Given the description of an element on the screen output the (x, y) to click on. 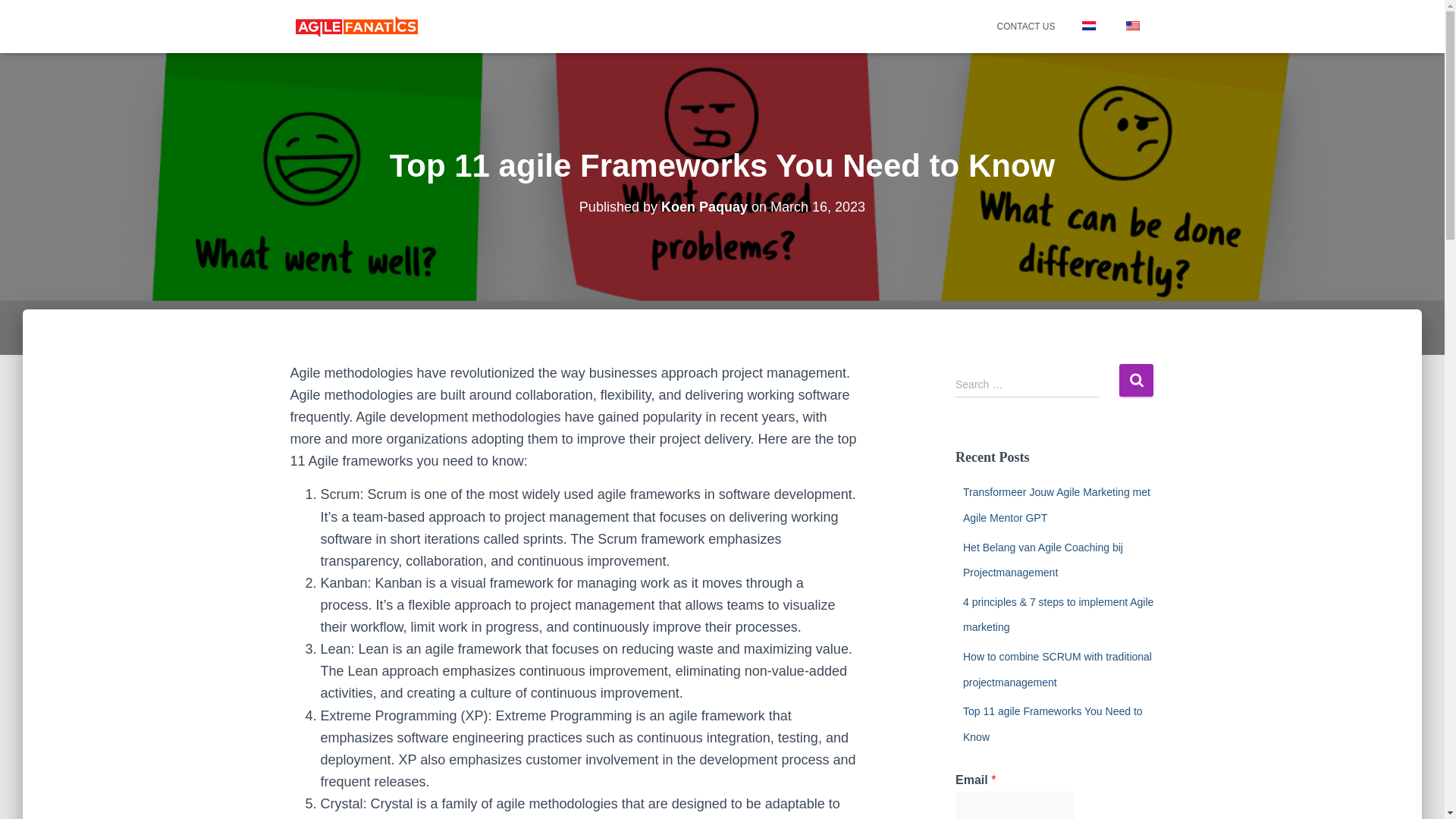
CONTACT US (1026, 26)
Contact us (1026, 26)
Top 11 agile Frameworks You Need to Know (1052, 723)
Transformeer Jouw Agile Marketing met Agile Mentor GPT (1056, 505)
Search (1136, 379)
Search (1136, 379)
Het Belang van Agile Coaching bij Projectmanagement (1042, 560)
Koen Paquay (704, 206)
Search (1136, 379)
English (1131, 25)
